Given the description of an element on the screen output the (x, y) to click on. 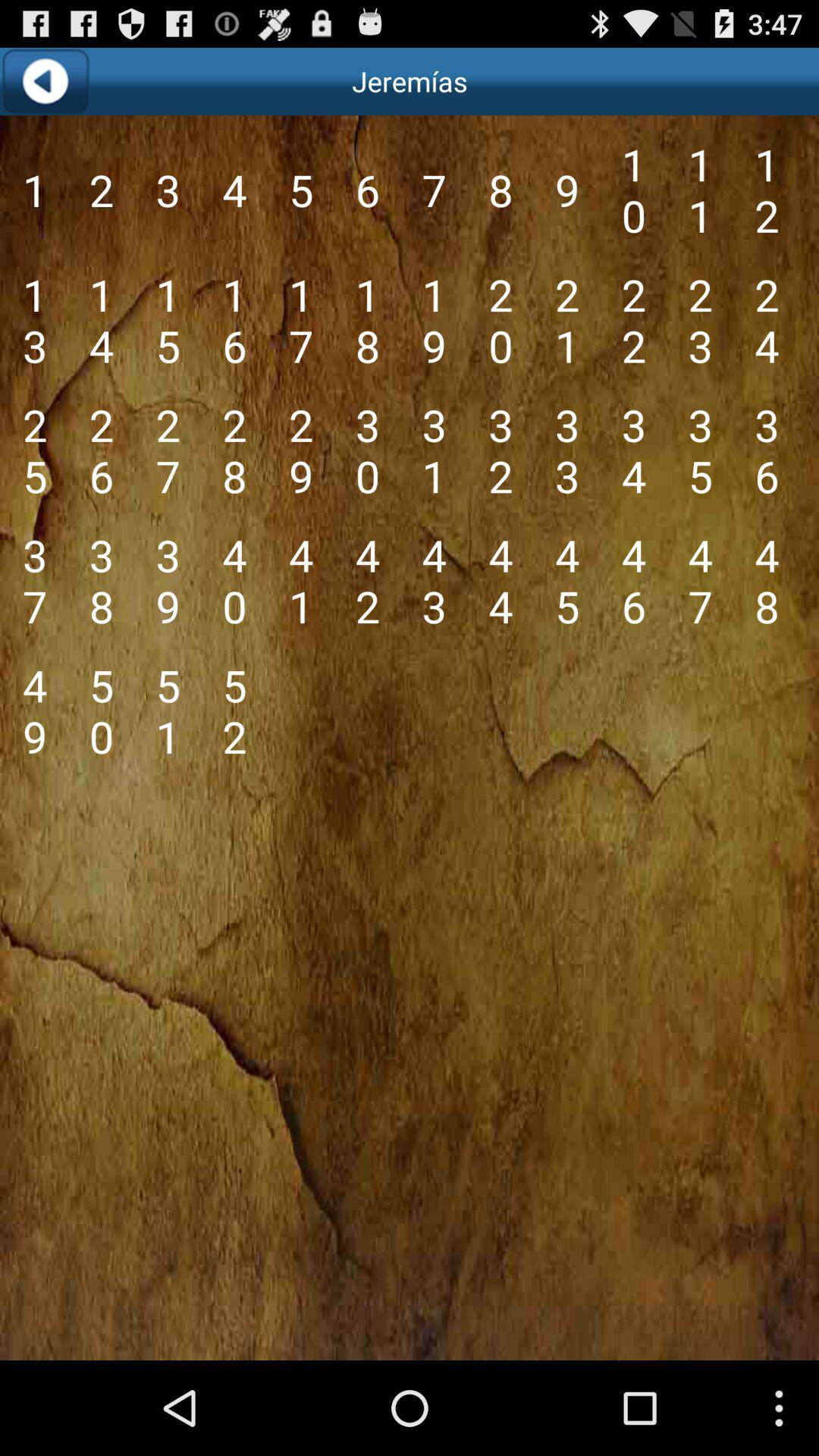
go to previous (45, 81)
